Given the description of an element on the screen output the (x, y) to click on. 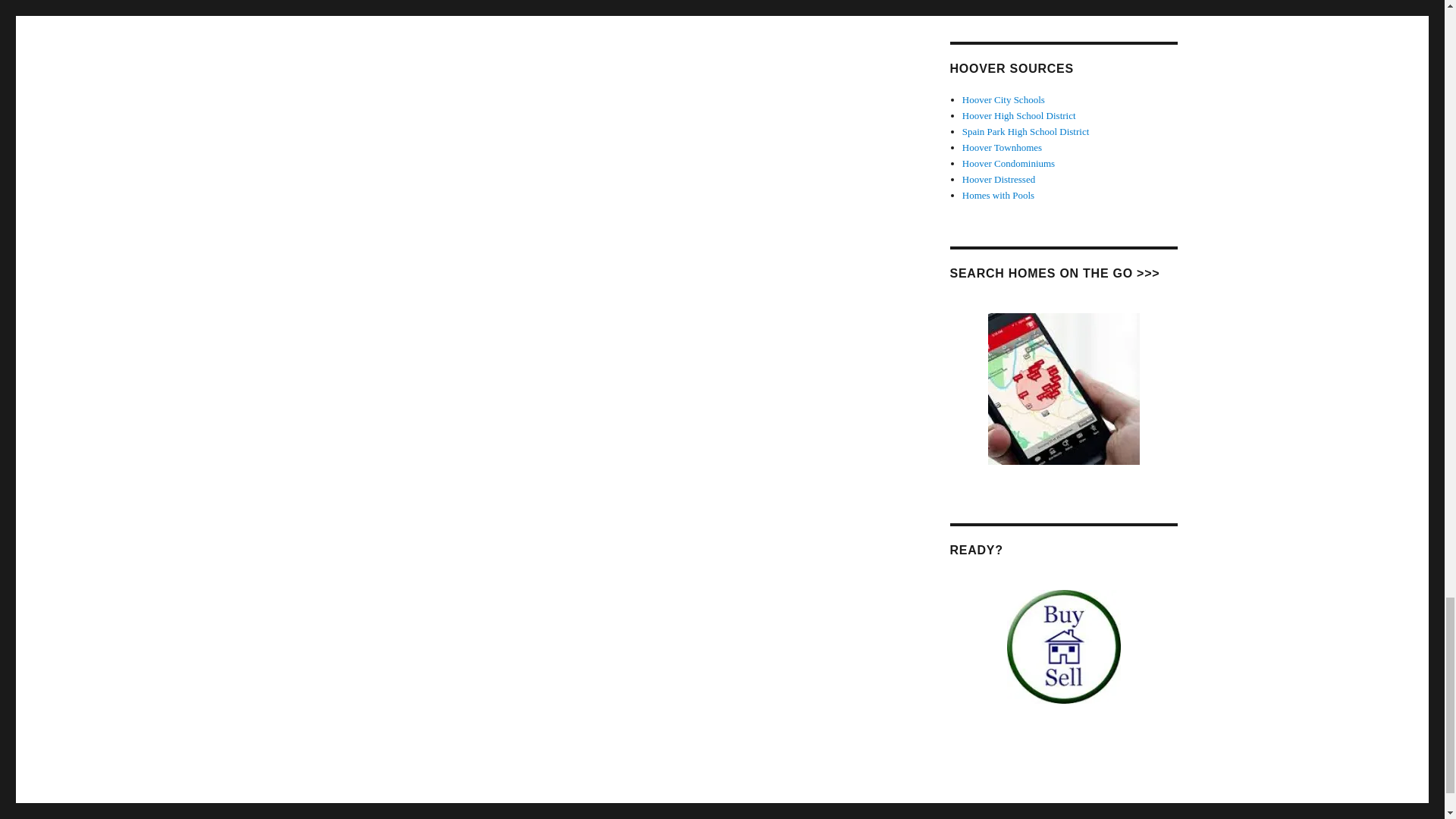
Spain Park High School District (1025, 131)
Hoover High School District (1018, 115)
